Given the description of an element on the screen output the (x, y) to click on. 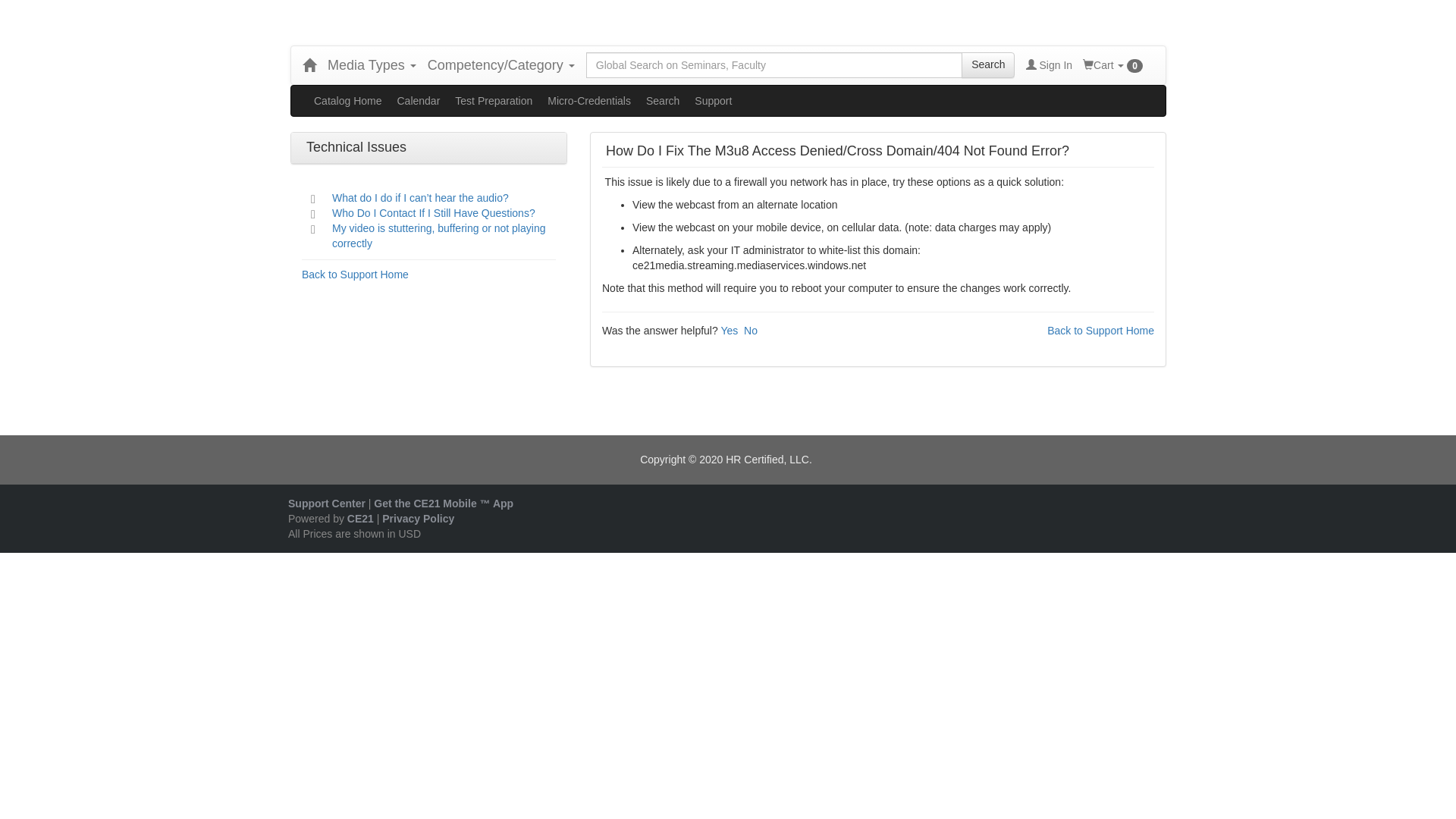
Go to Home Page (309, 64)
Cart  0 (1112, 64)
Media Types (371, 64)
Sign In (1048, 64)
Search (987, 64)
